Given the description of an element on the screen output the (x, y) to click on. 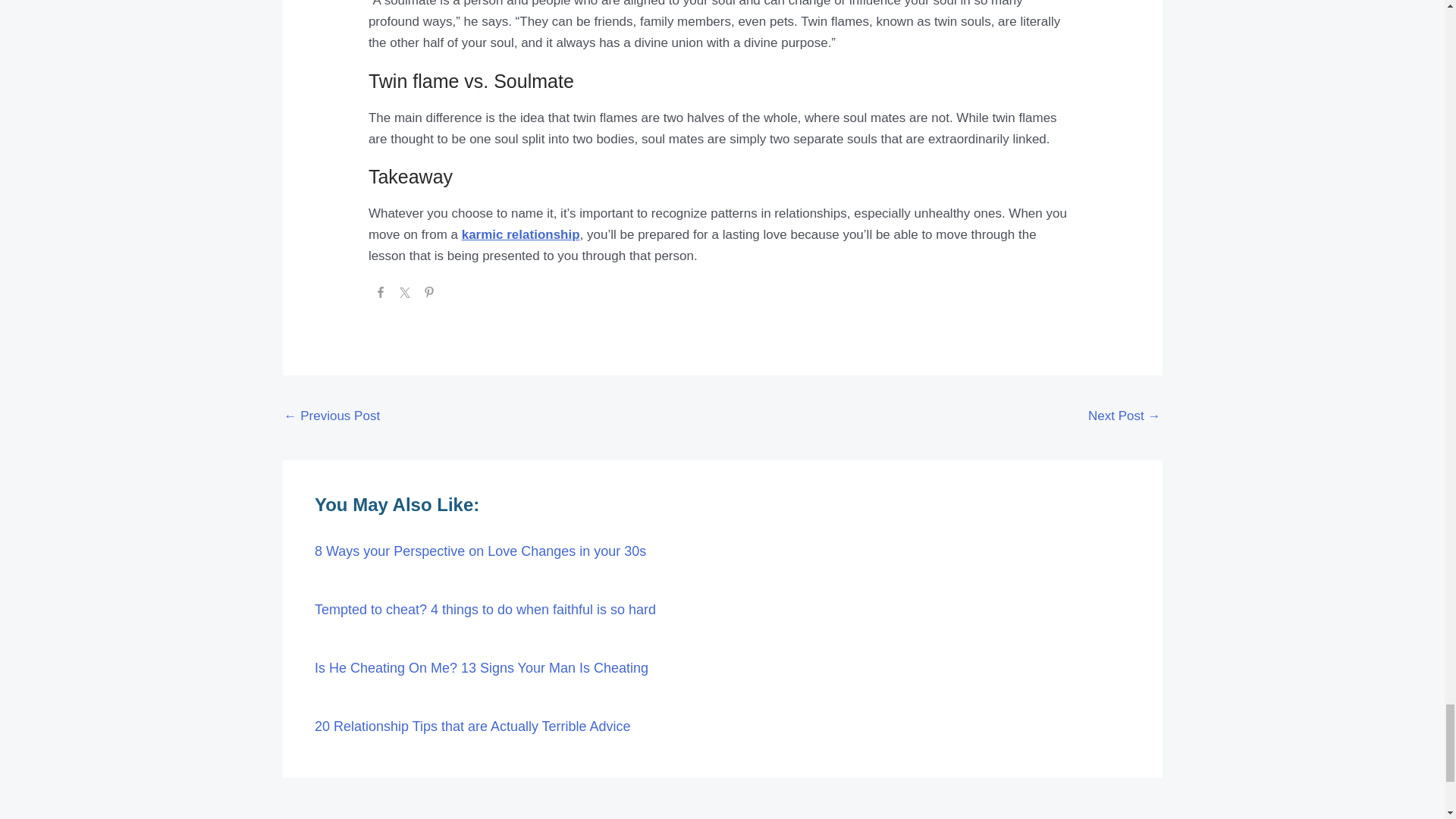
Share on Facebook (380, 294)
Share on Twitter (404, 294)
Share on Pinterest (428, 294)
